Given the description of an element on the screen output the (x, y) to click on. 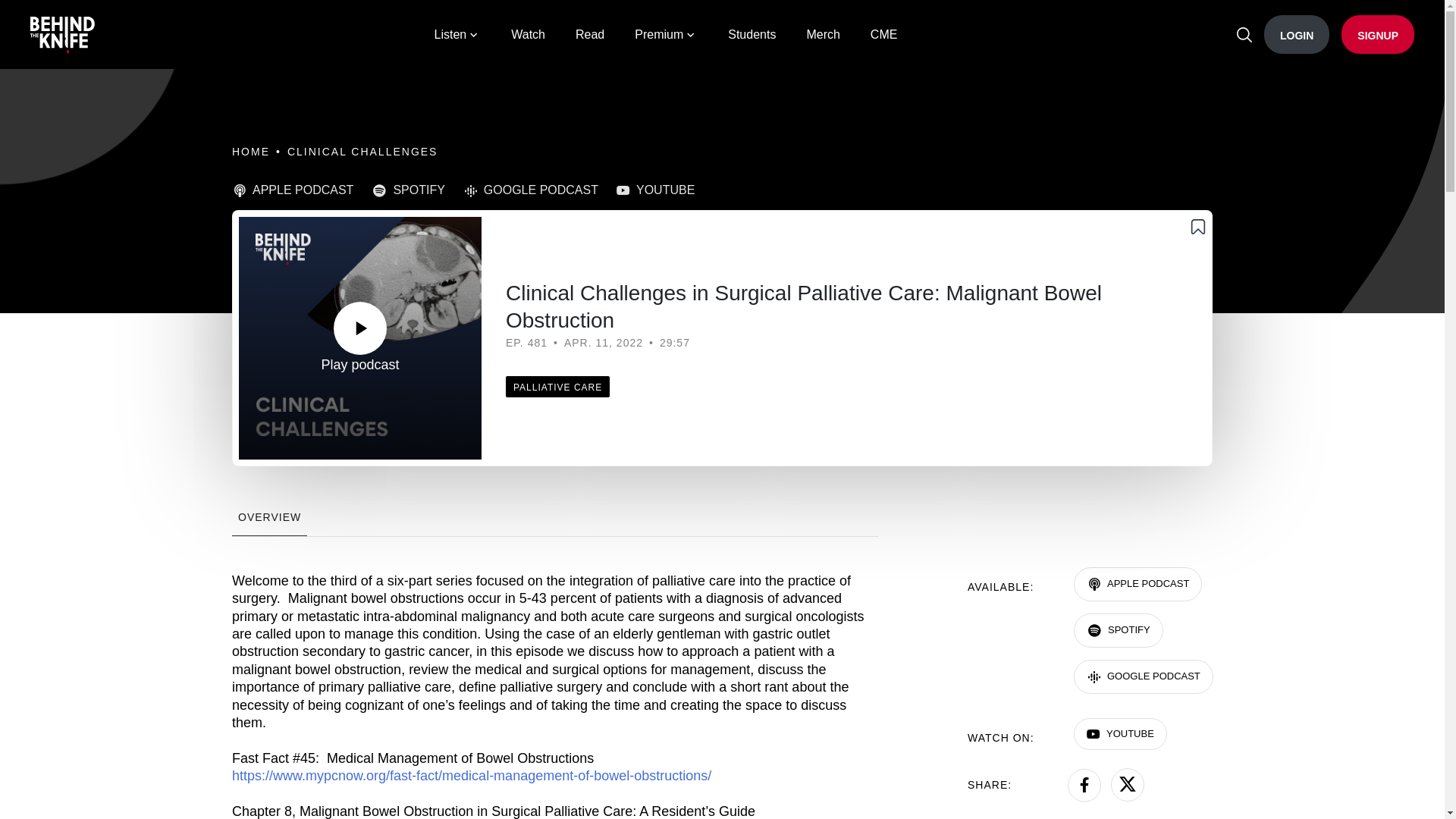
BTK logo (62, 34)
APPLE PODCAST (301, 187)
SIGNUP (1376, 34)
LOGIN (1296, 34)
GOOGLE PODCAST (539, 187)
Read (589, 34)
GOOGLE PODCAST (1143, 676)
APPLE PODCAST (1138, 584)
Students (752, 34)
Merch (823, 34)
Play podcast (359, 338)
HOME (250, 151)
YOUTUBE (664, 187)
Listen (457, 34)
